Given the description of an element on the screen output the (x, y) to click on. 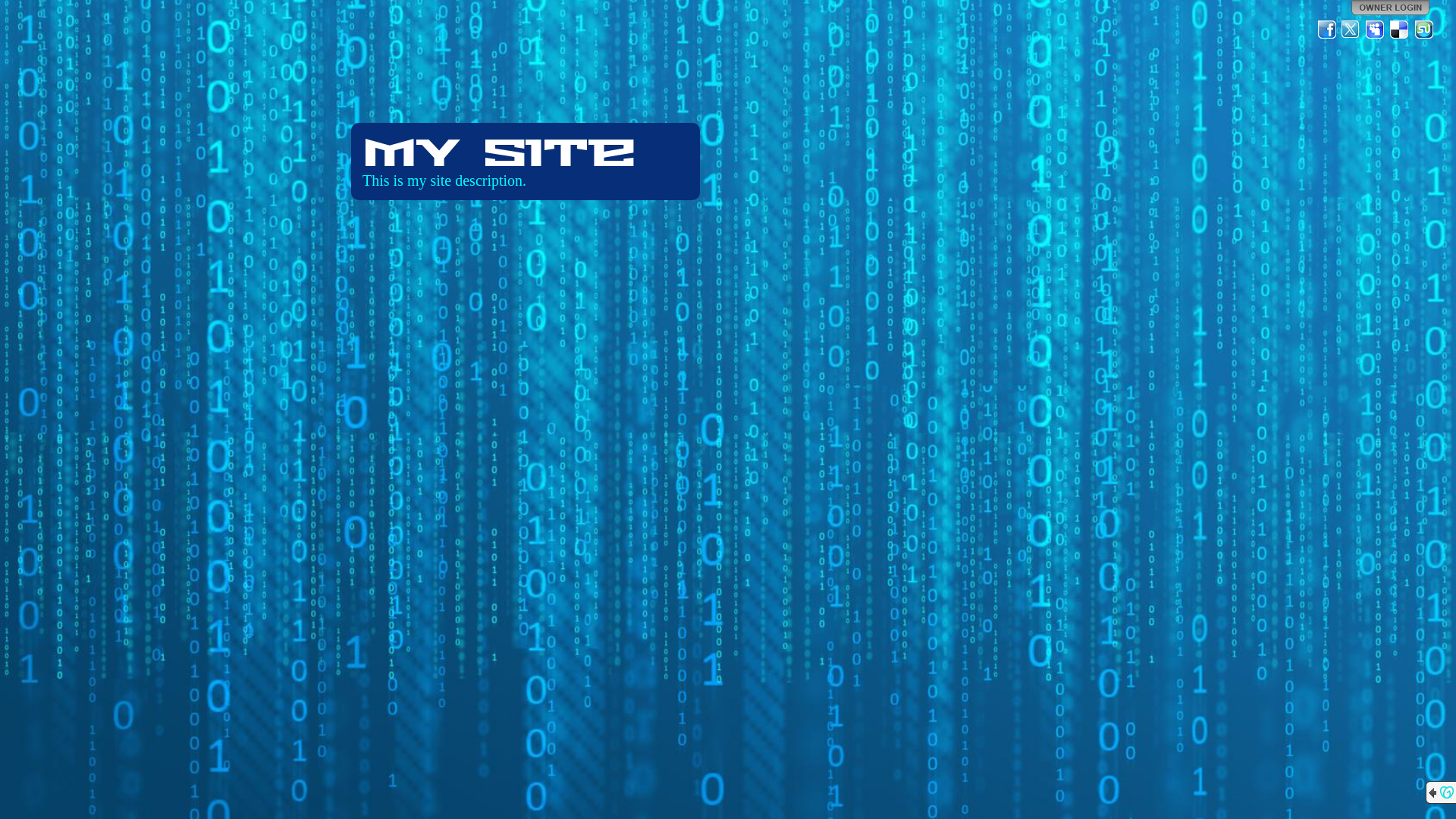
Facebook Element type: text (1326, 29)
StumbleUpon Element type: text (1423, 29)
MySpace Element type: text (1375, 29)
Del.icio.us Element type: text (1399, 29)
Twitter Element type: text (1350, 29)
